Given the description of an element on the screen output the (x, y) to click on. 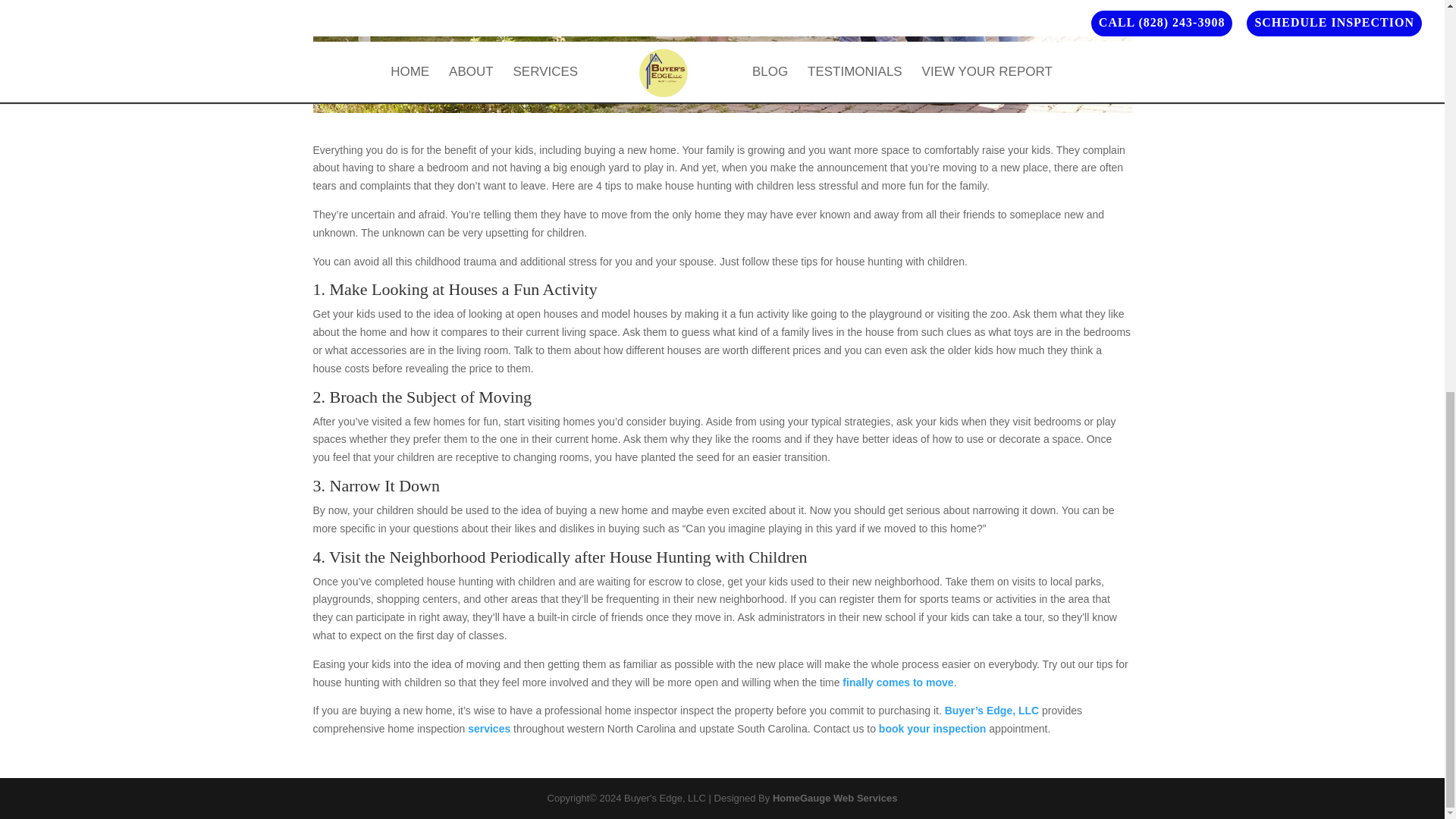
HomeGauge Web Services (835, 797)
services (489, 728)
finally comes to move (898, 682)
book your inspection (933, 728)
